Given the description of an element on the screen output the (x, y) to click on. 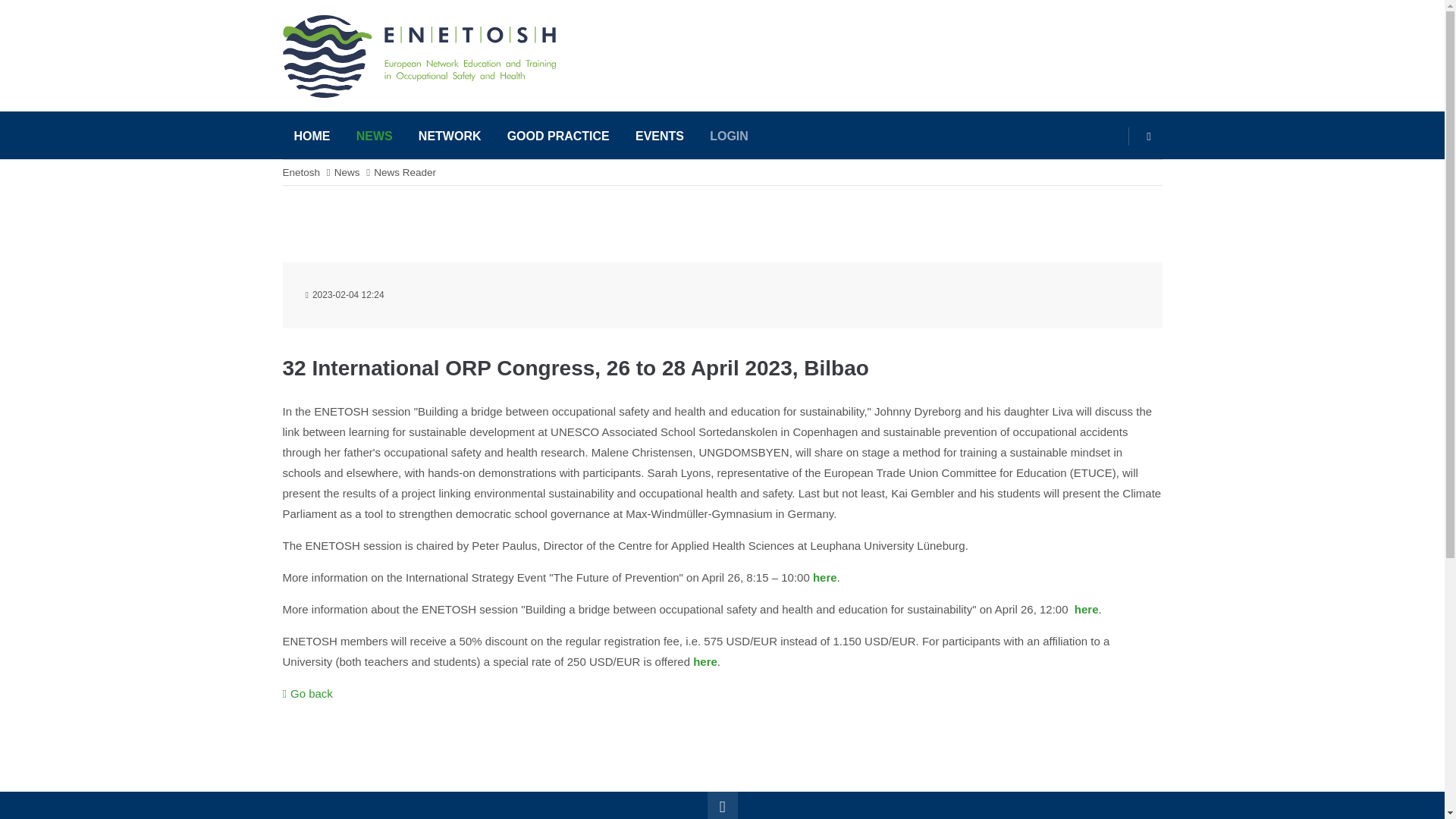
GOOD PRACTICE (558, 135)
EVENTS (659, 135)
Network (450, 135)
NETWORK (450, 135)
